Given the description of an element on the screen output the (x, y) to click on. 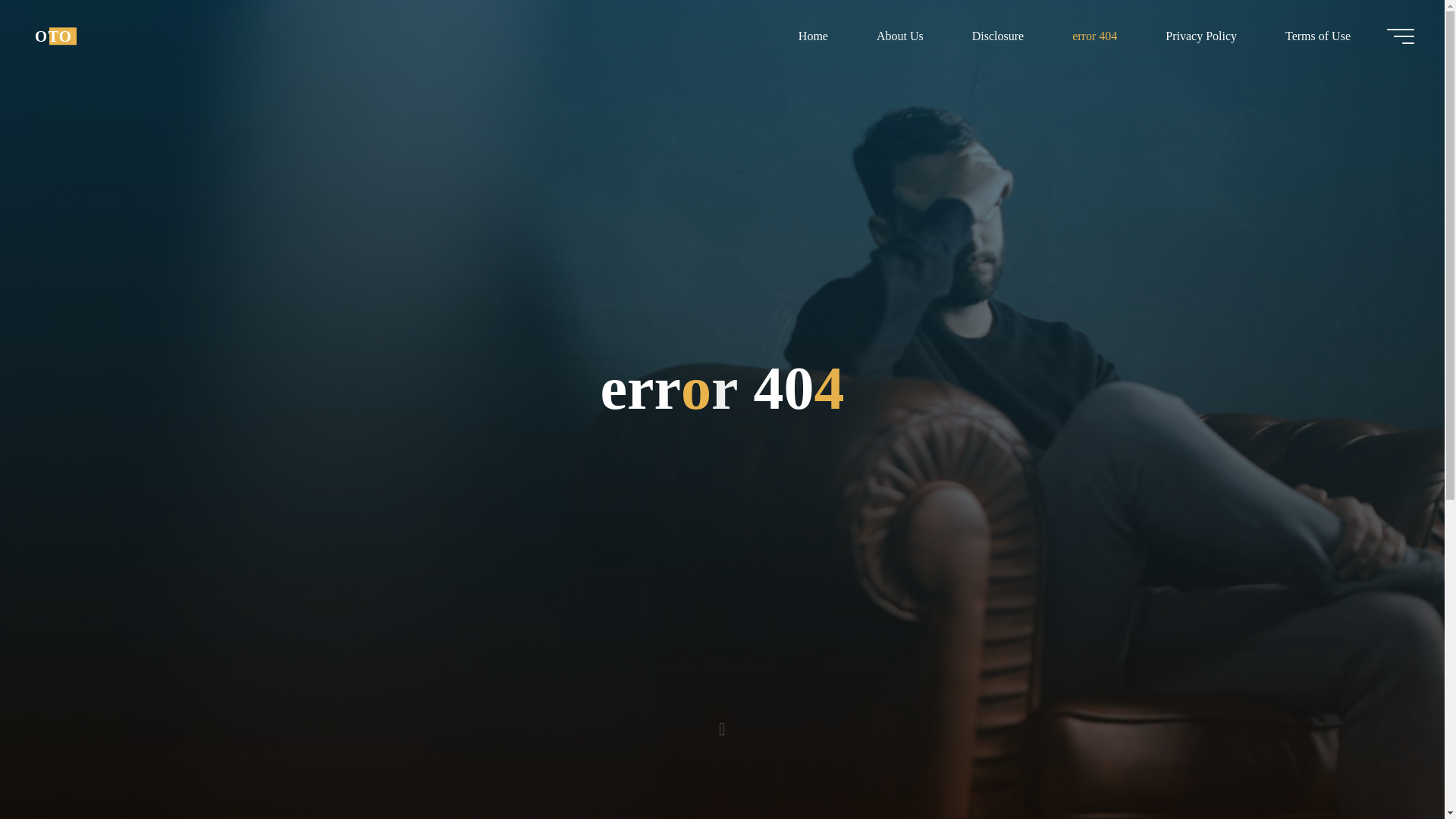
OTO (53, 36)
Terms of Use (1317, 35)
Disclosure (997, 35)
Privacy Policy (1200, 35)
error 404 (1094, 35)
About Us (899, 35)
Home (812, 35)
Read more (721, 724)
